Given the description of an element on the screen output the (x, y) to click on. 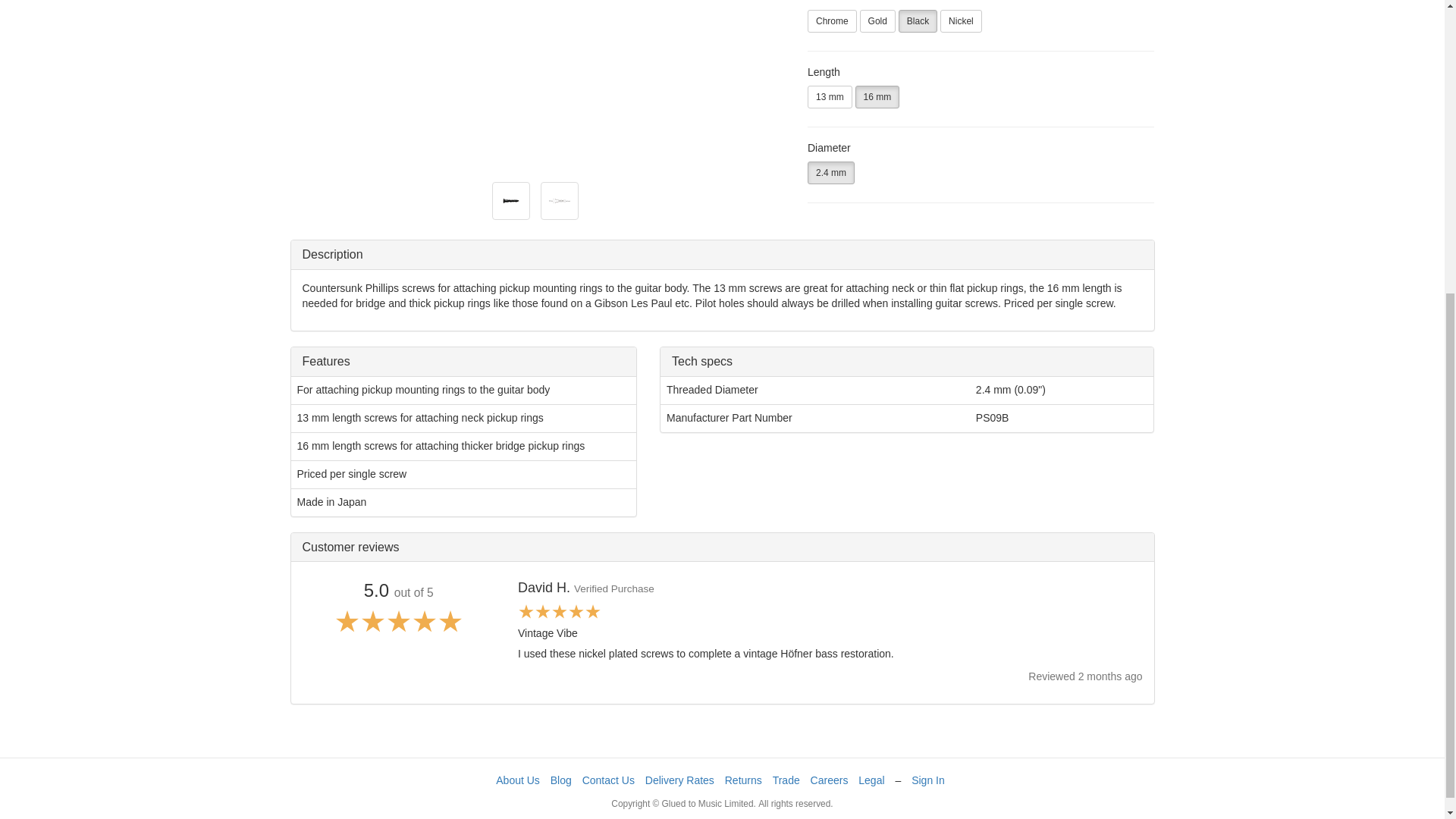
Contact Us (608, 779)
Careers (829, 779)
13 mm (829, 96)
Blog (561, 779)
Gold (877, 20)
Delivery Rates (679, 779)
16 mm (877, 96)
Trade (786, 779)
Sign In (927, 779)
Legal (871, 779)
Returns (743, 779)
Black (917, 20)
Nickel (960, 20)
Chrome (832, 20)
About Us (518, 779)
